Given the description of an element on the screen output the (x, y) to click on. 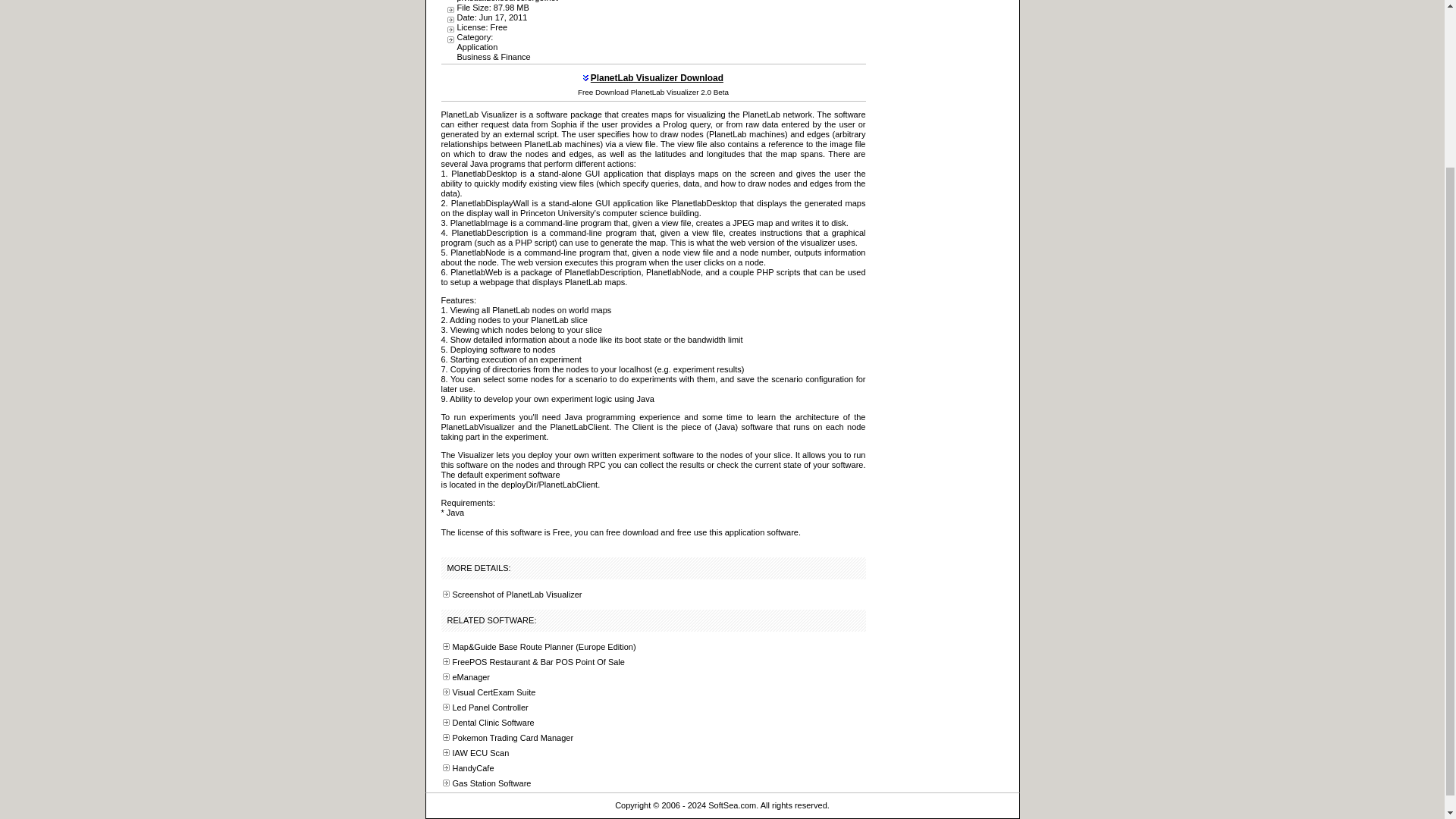
IAW ECU Scan (479, 752)
Dental Clinic Software (492, 722)
Advertisement (727, 27)
Screenshot of PlanetLab Visualizer (515, 593)
HandyCafe (472, 768)
PlanetLab Visualizer Download (657, 77)
Led Panel Controller (489, 706)
eManager (470, 676)
Gas Station Software (491, 782)
Visual CertExam Suite (493, 691)
Pokemon Trading Card Manager (512, 737)
